Given the description of an element on the screen output the (x, y) to click on. 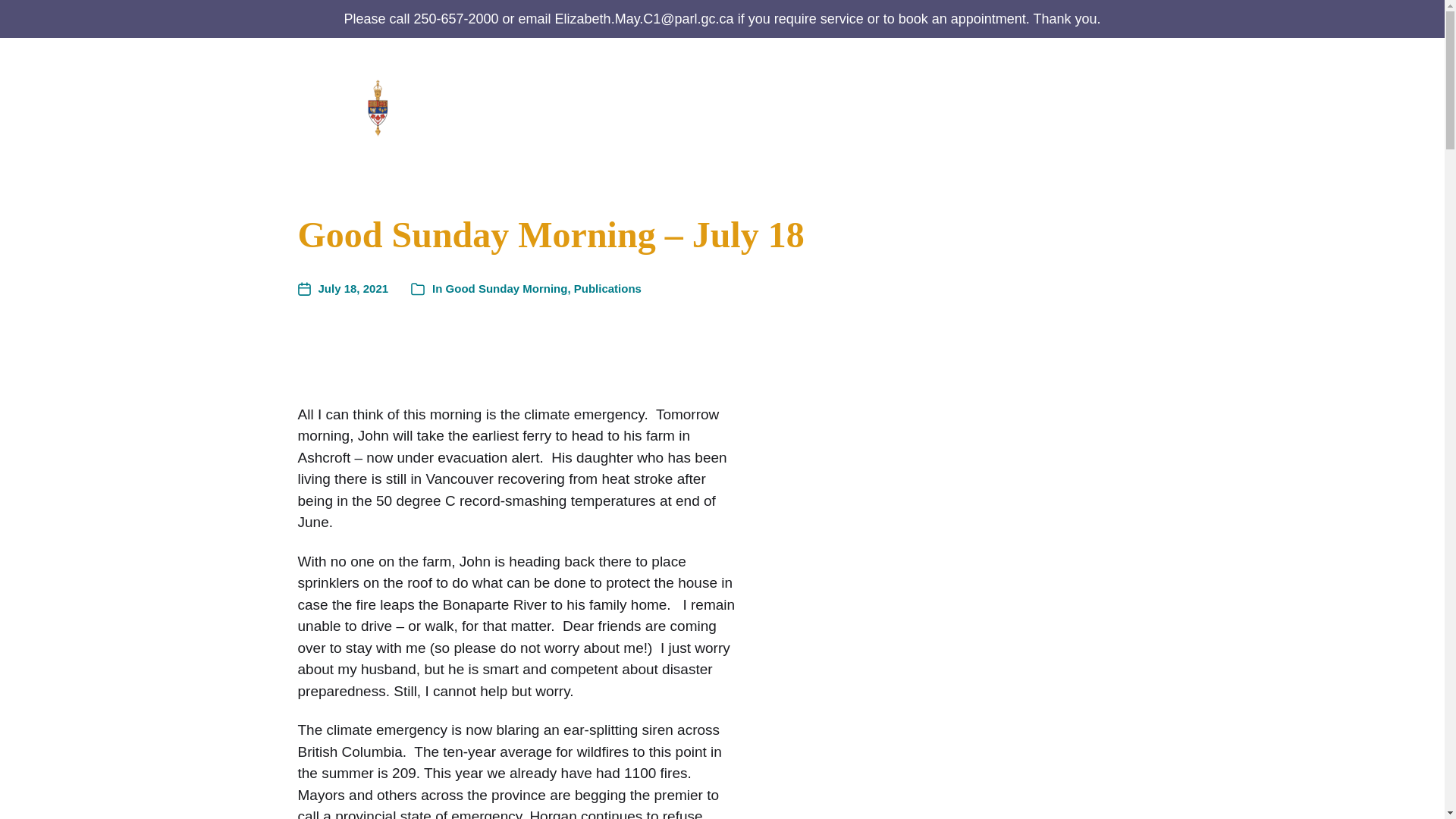
Parliament (936, 106)
Issues (1028, 106)
Can We Help? (722, 106)
EN (1136, 90)
Publications (844, 106)
About (638, 106)
FR (1137, 118)
